Given the description of an element on the screen output the (x, y) to click on. 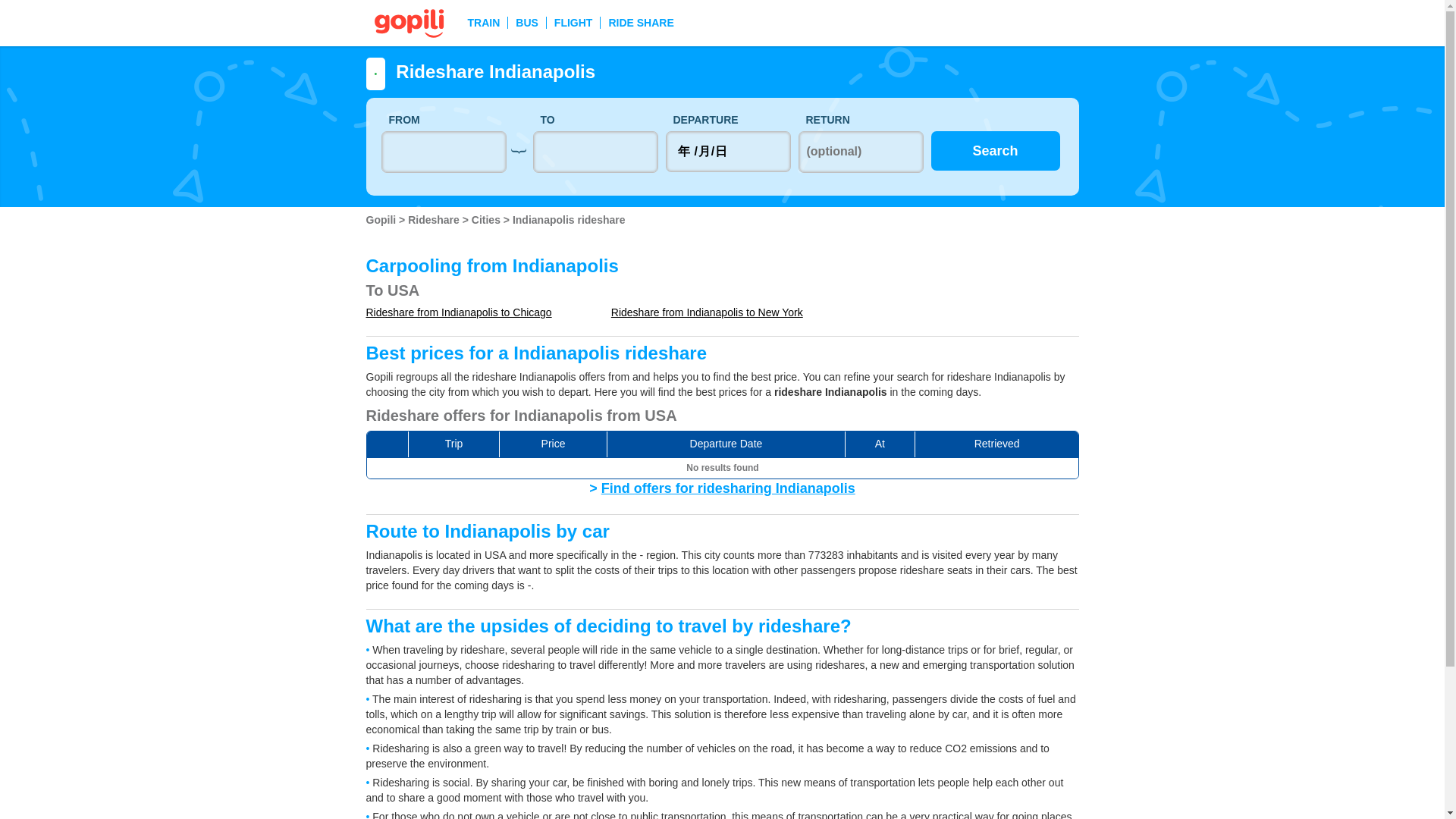
Rideshare from Indianapolis to Chicago (458, 312)
Rideshare from Indianapolis to New York (707, 312)
Cities (487, 219)
Search (995, 150)
Indianapolis rideshare (569, 219)
Rideshare (435, 219)
Gopili (381, 219)
